Given the description of an element on the screen output the (x, y) to click on. 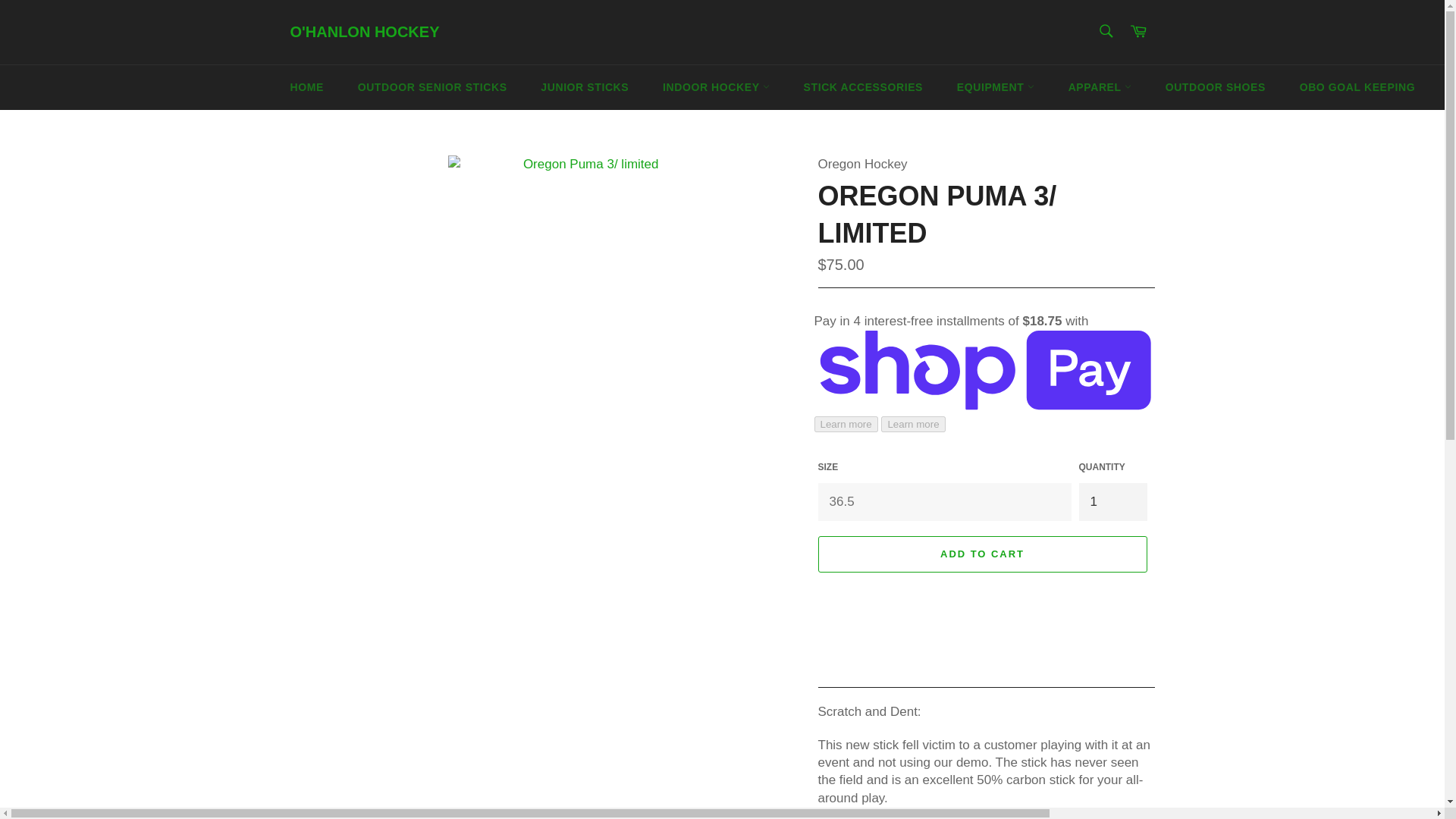
1 (1112, 501)
Cart (1138, 32)
HOME (306, 87)
Search (1104, 30)
JUNIOR STICKS (584, 87)
INDOOR HOCKEY (715, 87)
OUTDOOR SENIOR STICKS (432, 87)
O'HANLON HOCKEY (364, 32)
